Given the description of an element on the screen output the (x, y) to click on. 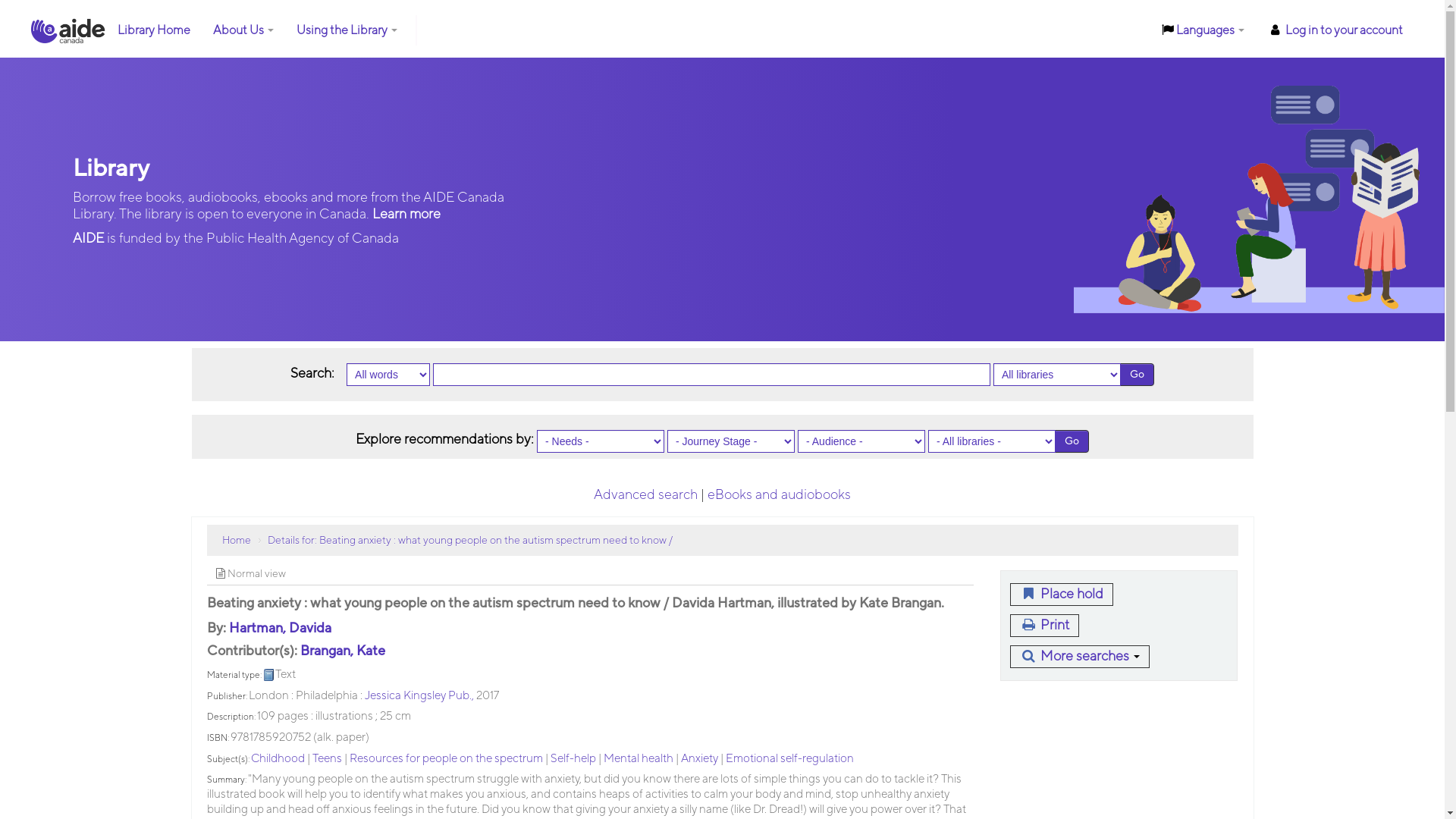
More searches Element type: text (1079, 656)
Childhood Element type: text (277, 757)
Place hold Element type: text (1061, 594)
Using the Library Element type: text (346, 30)
eBooks and audiobooks Element type: text (778, 494)
Library Home Element type: text (153, 30)
Languages Element type: text (1202, 30)
Home Element type: text (235, 540)
Hartman, Davida Element type: text (280, 628)
Learn more Element type: text (406, 213)
Teens Element type: text (327, 757)
Print Element type: text (1044, 625)
Type search term Element type: hover (711, 374)
Go Element type: text (1137, 374)
Log in to your account Element type: text (1334, 30)
Brangan, Kate Element type: text (342, 650)
Resources for people on the spectrum Element type: text (445, 757)
Anxiety Element type: text (699, 757)
AIDE Canada Library Element type: text (68, 30)
AIDE Element type: text (89, 238)
Emotional self-regulation Element type: text (788, 757)
Jessica Kingsley Pub., Element type: text (418, 694)
Self-help Element type: text (573, 757)
Go Element type: text (1071, 440)
Advanced search Element type: text (645, 494)
Mental health Element type: text (638, 757)
About Us Element type: text (243, 30)
